Given the description of an element on the screen output the (x, y) to click on. 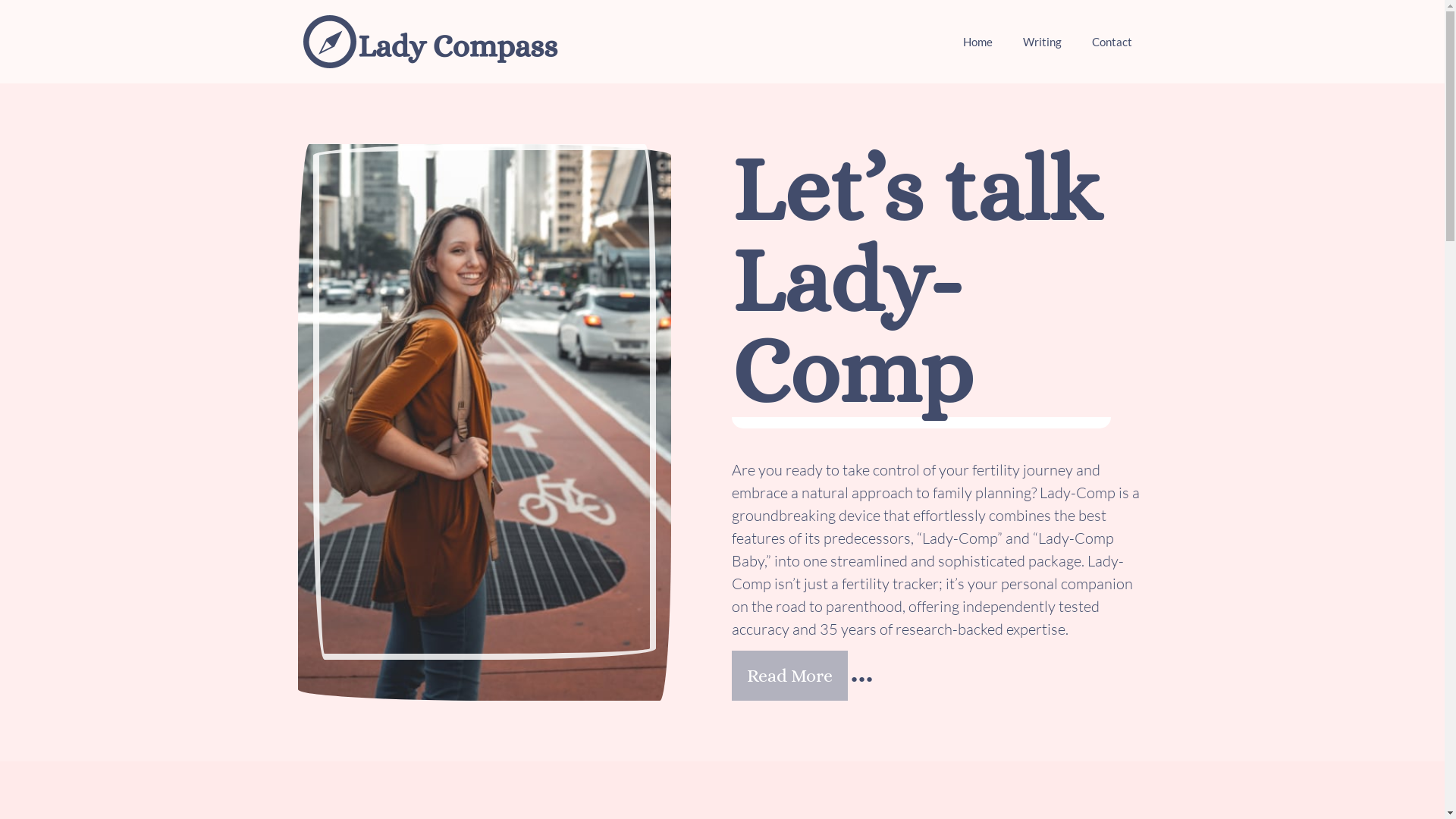
Writing Element type: text (1041, 41)
Home Element type: text (977, 41)
Read More Element type: text (789, 675)
Contact Element type: text (1111, 41)
